Given the description of an element on the screen output the (x, y) to click on. 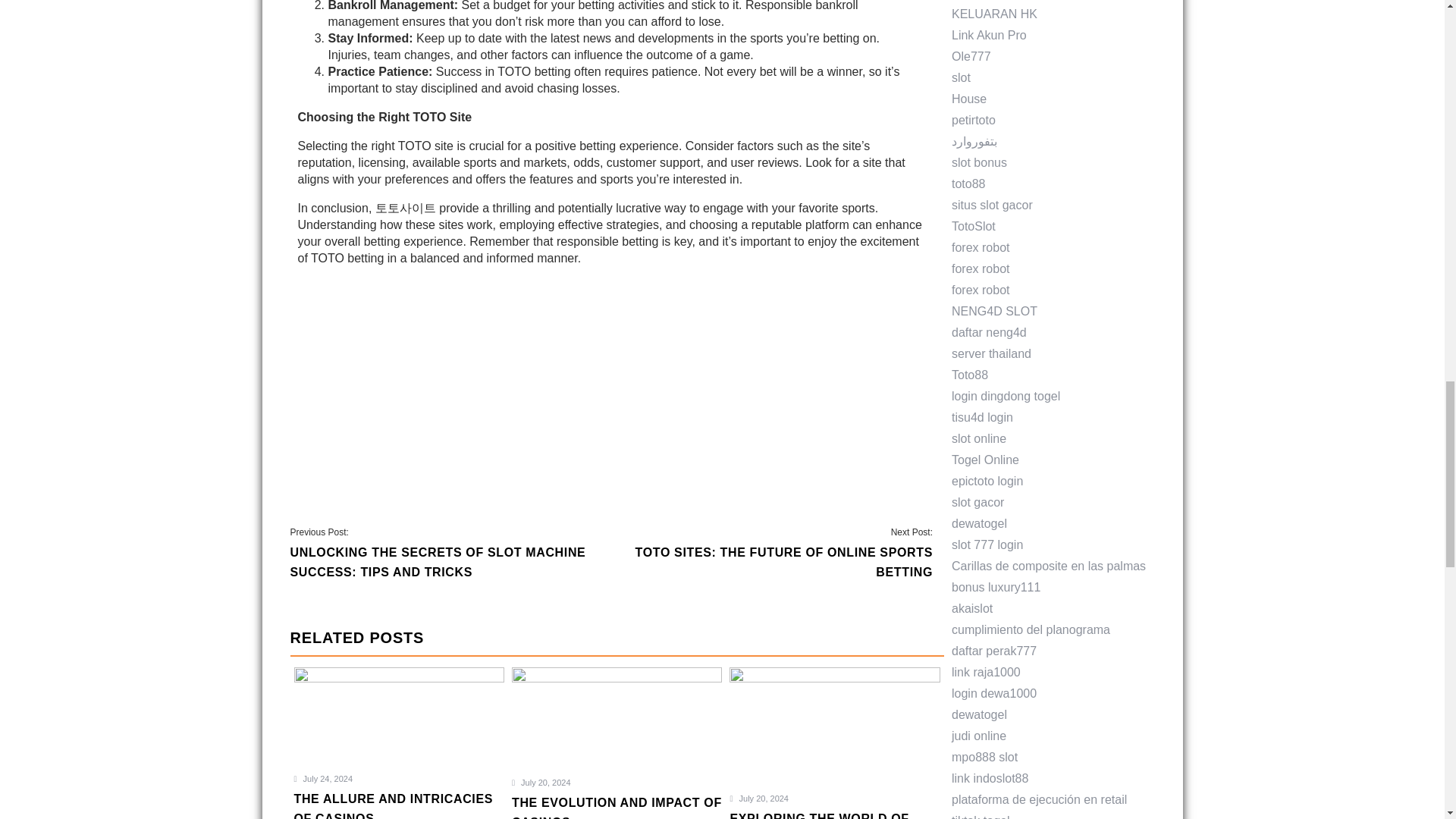
EXPLORING THE WORLD OF CASINOS: A COMPREHENSIVE OVERVIEW (834, 814)
THE ALLURE AND INTRICACIES OF CASINOS (398, 804)
July 24, 2024 (772, 554)
July 20, 2024 (323, 777)
July 20, 2024 (541, 782)
THE EVOLUTION AND IMPACT OF CASINOS (759, 798)
